Given the description of an element on the screen output the (x, y) to click on. 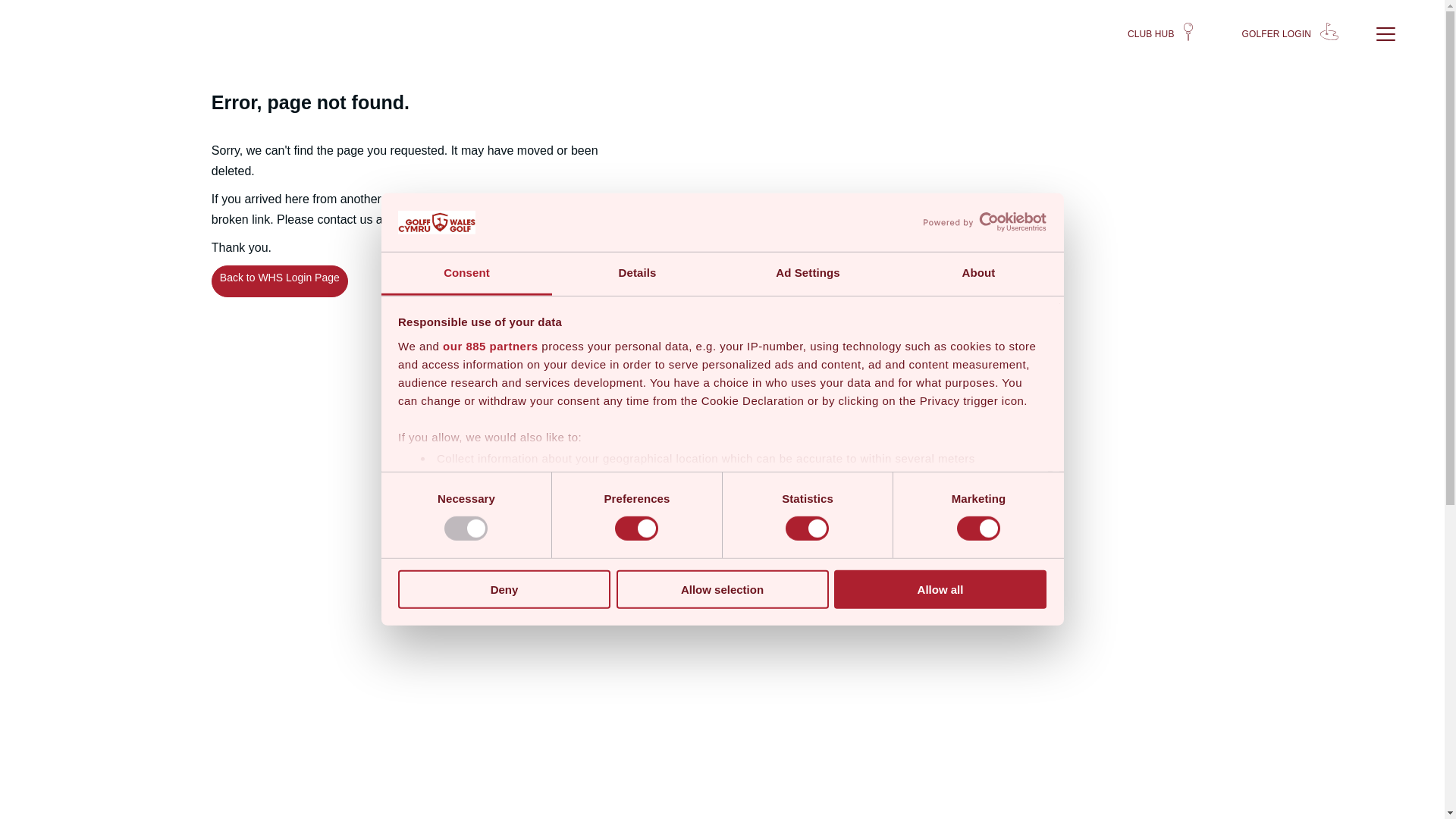
details section (927, 496)
Ad Settings (807, 273)
Details (636, 273)
Consent (465, 273)
About (978, 273)
our 885 partners (490, 345)
